Given the description of an element on the screen output the (x, y) to click on. 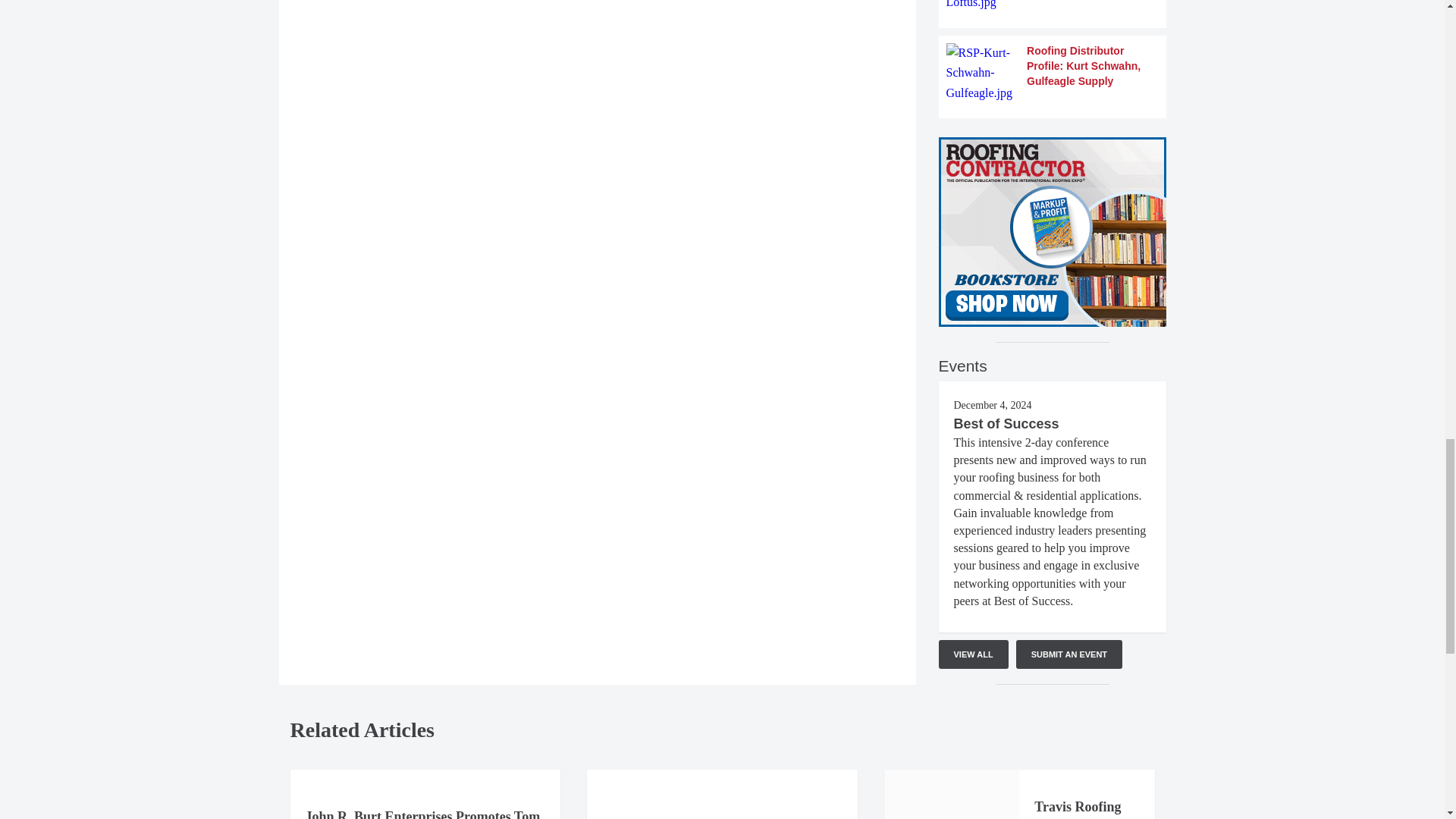
Roofing Distributor Profile: Kurt Schwahn, Gulfeagle Supply (1052, 73)
Best of Success (1006, 423)
